Given the description of an element on the screen output the (x, y) to click on. 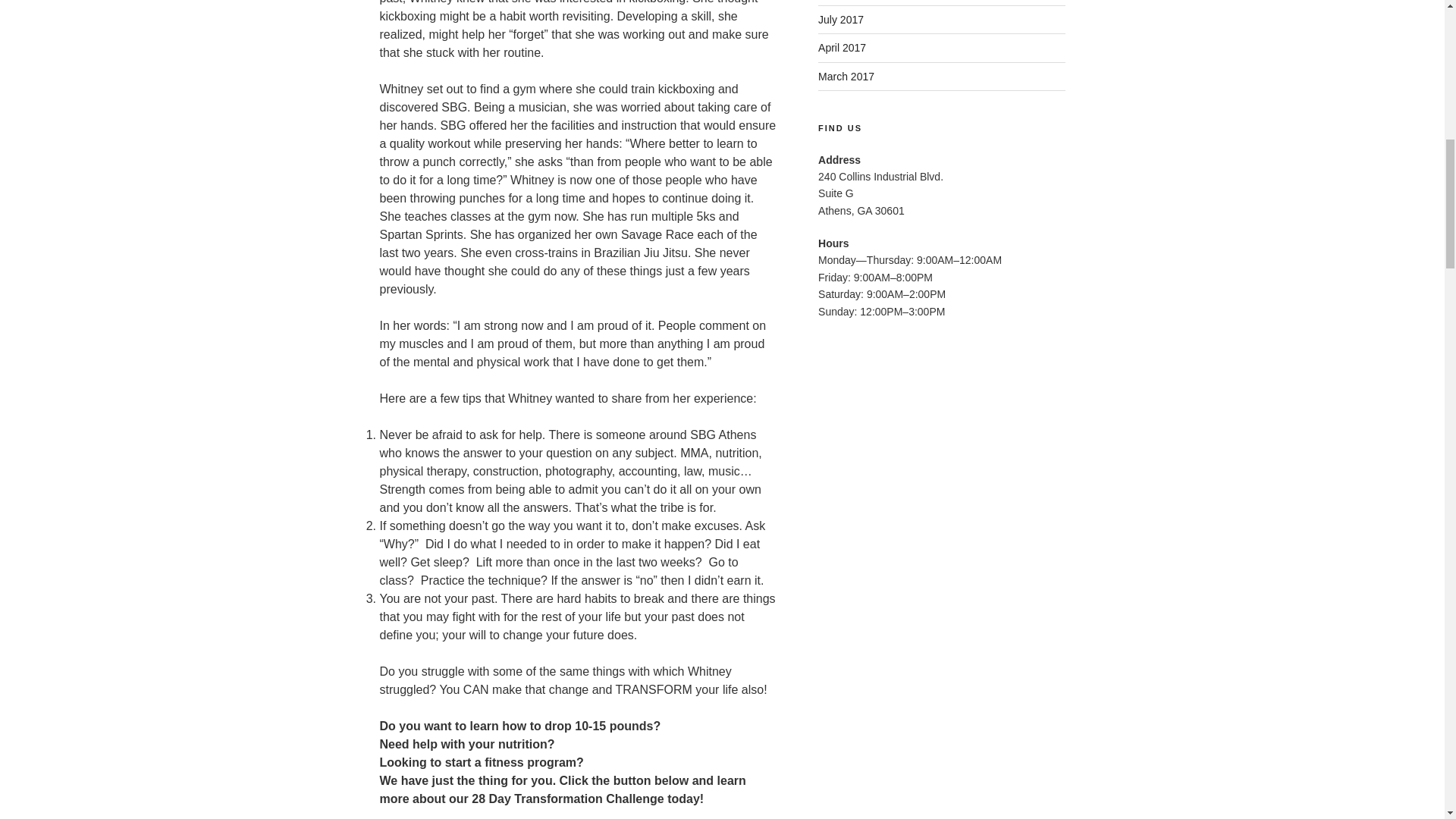
July 2017 (840, 19)
March 2017 (846, 76)
April 2017 (842, 47)
